Given the description of an element on the screen output the (x, y) to click on. 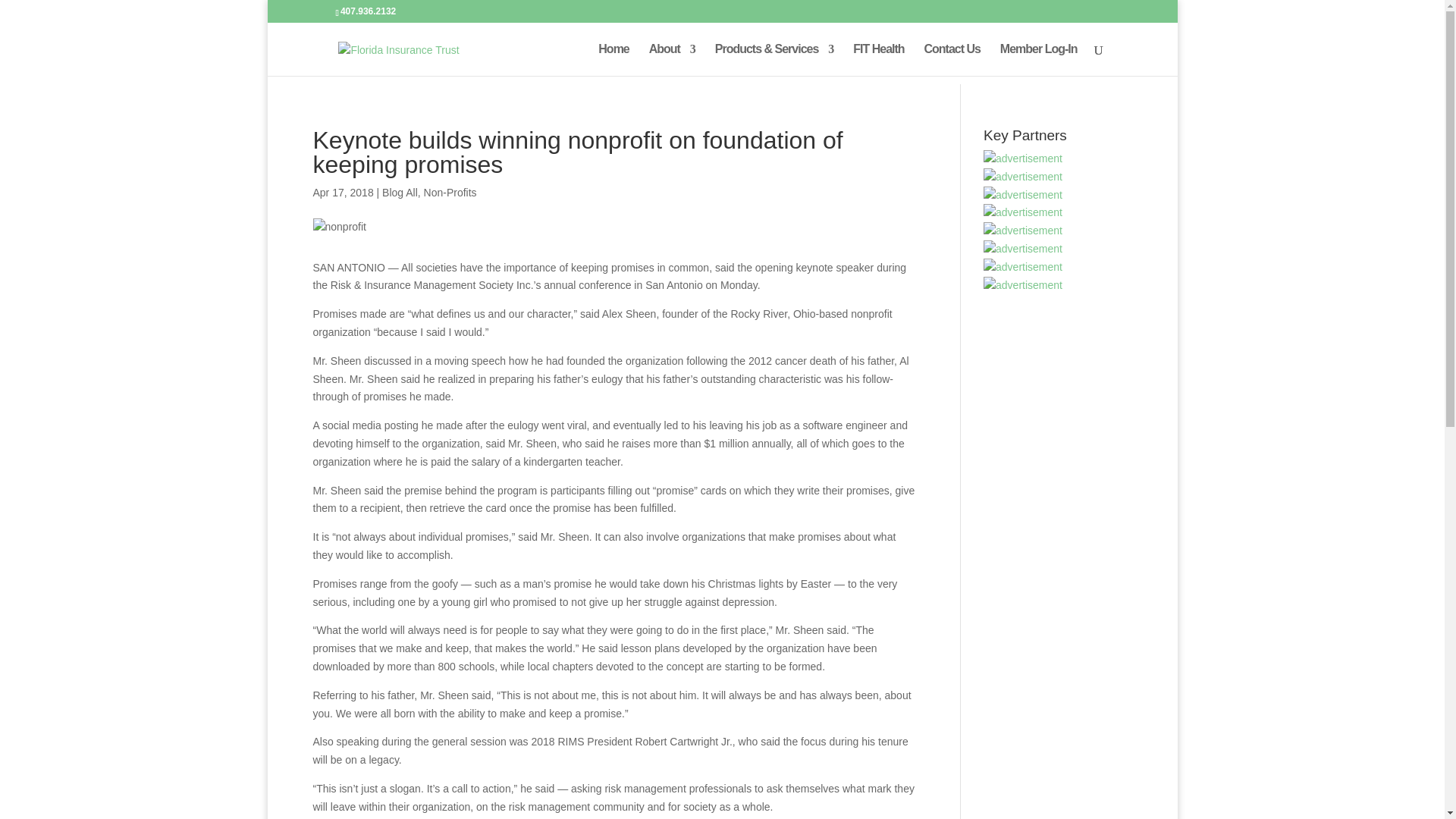
Florida Coalition For Children (1023, 177)
Blog All (399, 192)
Florida Council for Community Mental Health (1023, 212)
Contact Us (951, 60)
About (672, 60)
Florida Behavioral Health Association  (1023, 267)
Florida Association of Community Health Centers (1023, 285)
Florida Hospices and Palliative Care (1023, 158)
Florida Association of Rehabilitation Facilities (1023, 249)
FIT Health (878, 60)
